Given the description of an element on the screen output the (x, y) to click on. 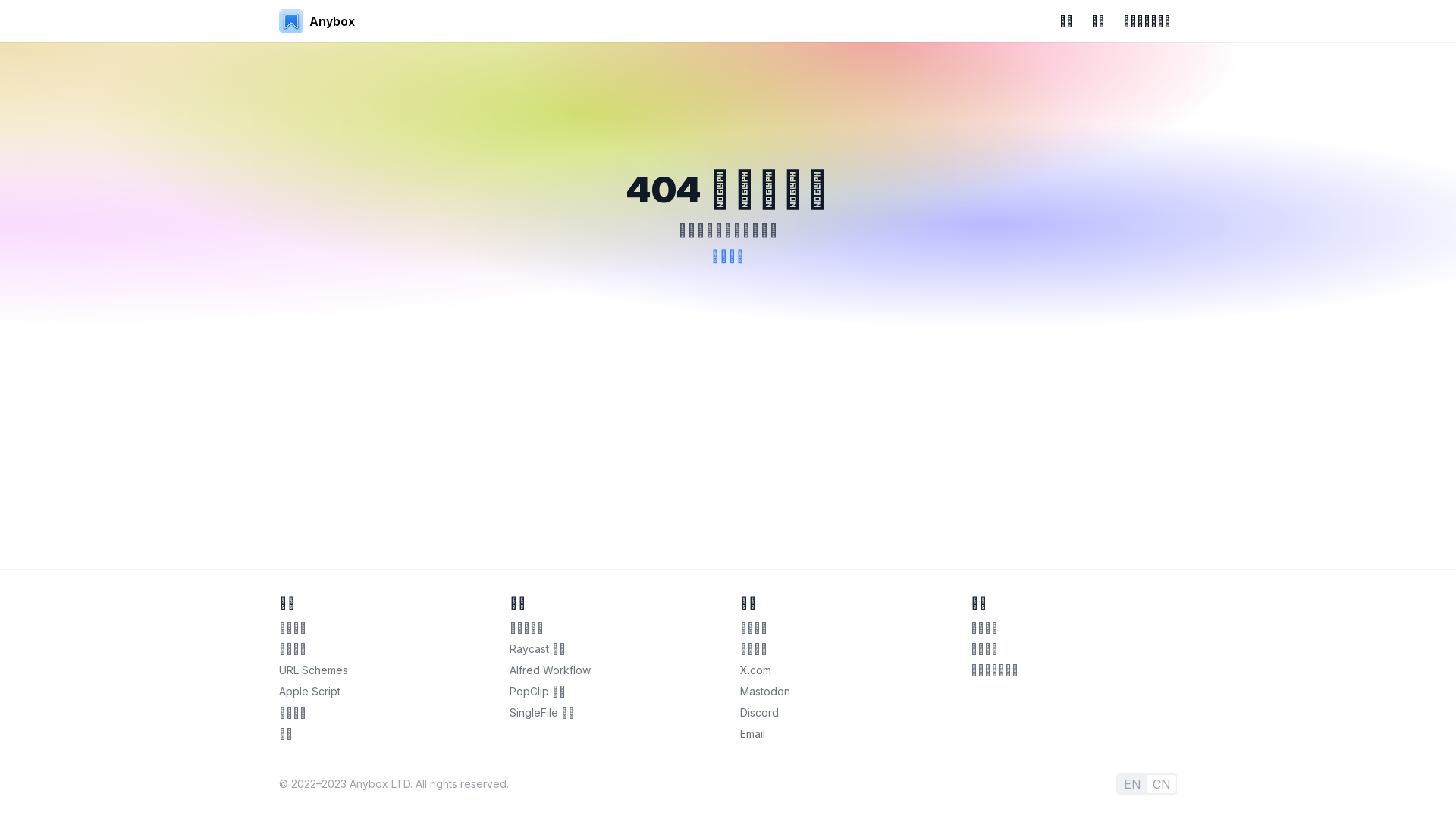
Anybox Element type: text (316, 21)
Apple Script Element type: text (309, 690)
URL Schemes Element type: text (313, 669)
Mastodon Element type: text (765, 690)
Email Element type: text (752, 733)
X.com Element type: text (755, 669)
Discord Element type: text (759, 712)
Alfred Workflow Element type: text (549, 669)
